Given the description of an element on the screen output the (x, y) to click on. 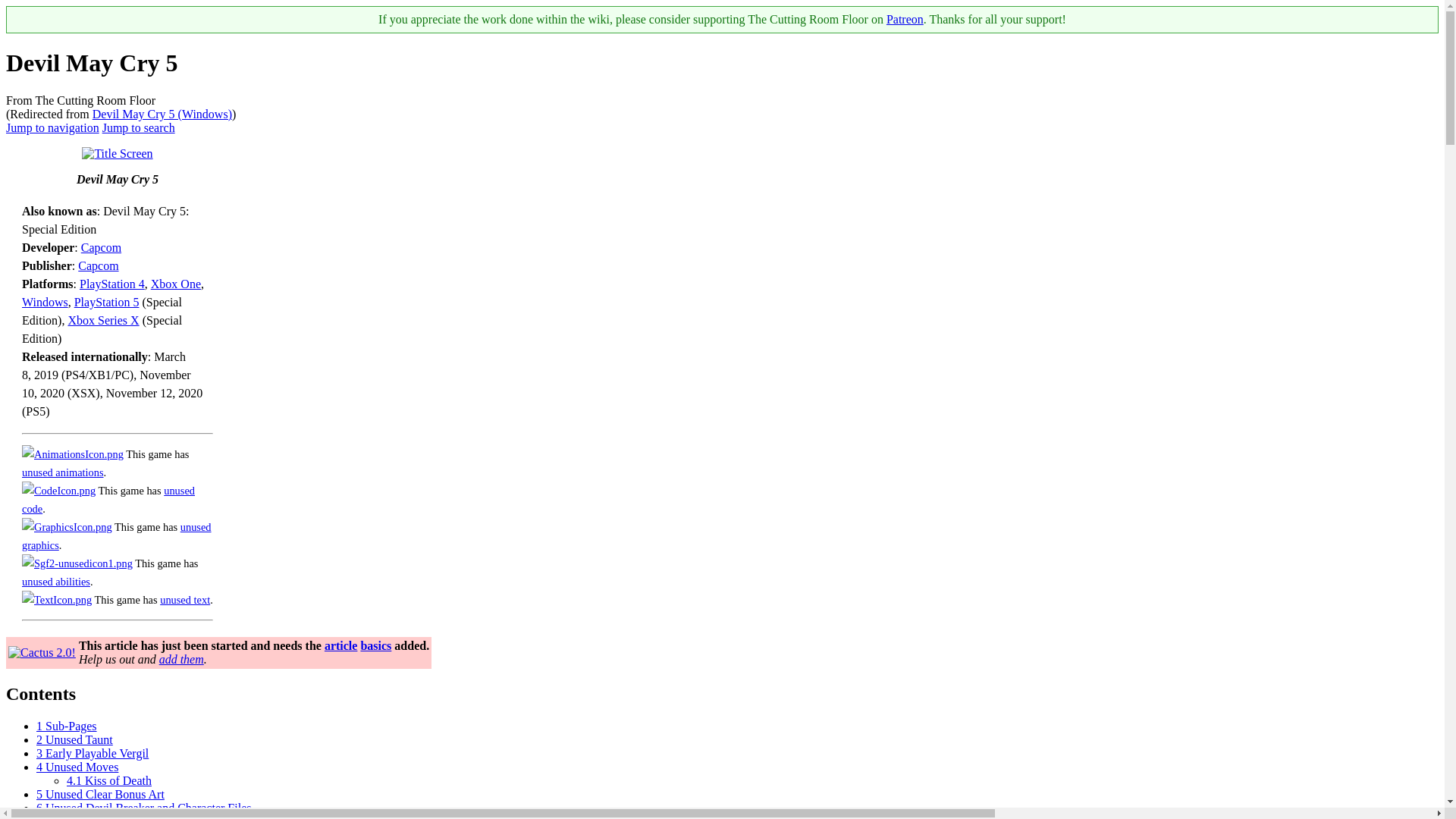
1 Sub-Pages (66, 725)
Capcom (100, 246)
article (341, 645)
Category:Windows games (44, 301)
Capcom (97, 265)
Category:PlayStation 4 games (112, 283)
PlayStation 5 (106, 301)
Category:Xbox One games (175, 283)
unused text (184, 599)
4 Unused Moves (76, 766)
Title Screen (116, 153)
3 Early Playable Vergil (92, 753)
unused abilities (55, 581)
Category:Xbox Series X games (102, 319)
4.1 Kiss of Death (108, 780)
